Given the description of an element on the screen output the (x, y) to click on. 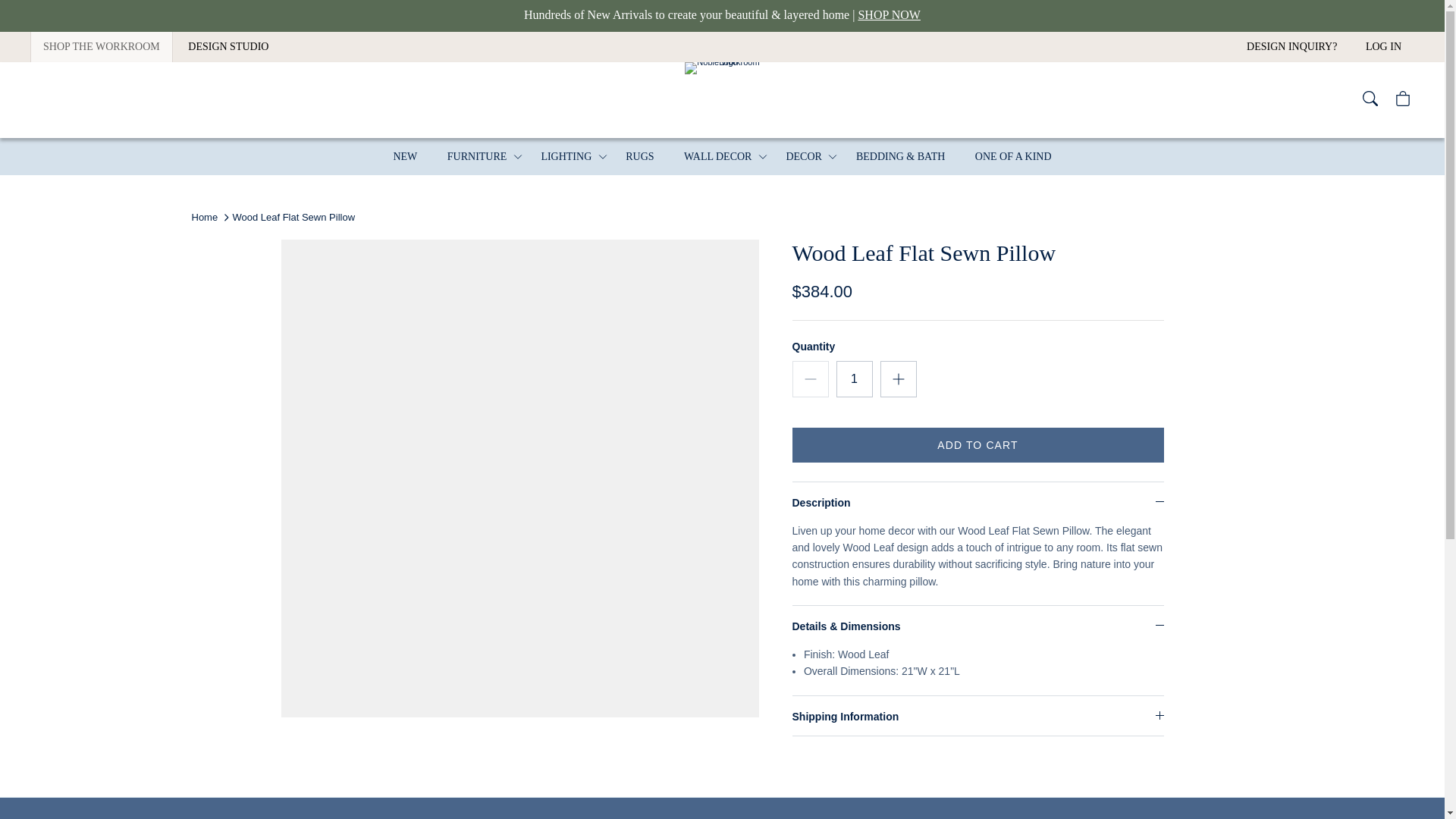
New Arrivals (722, 14)
TOGGLE MENU (762, 156)
LOG IN (1382, 46)
SHOP THE WORKROOM (101, 46)
Noble Designs (722, 100)
TOGGLE MENU (832, 156)
TOGGLE MENU (517, 156)
NEW (404, 156)
1 (853, 379)
DESIGN INQUIRY? (1291, 46)
Cart (1404, 99)
Search (1371, 99)
TOGGLE MENU (517, 156)
FURNITURE (477, 156)
TOGGLE MENU (602, 156)
